Given the description of an element on the screen output the (x, y) to click on. 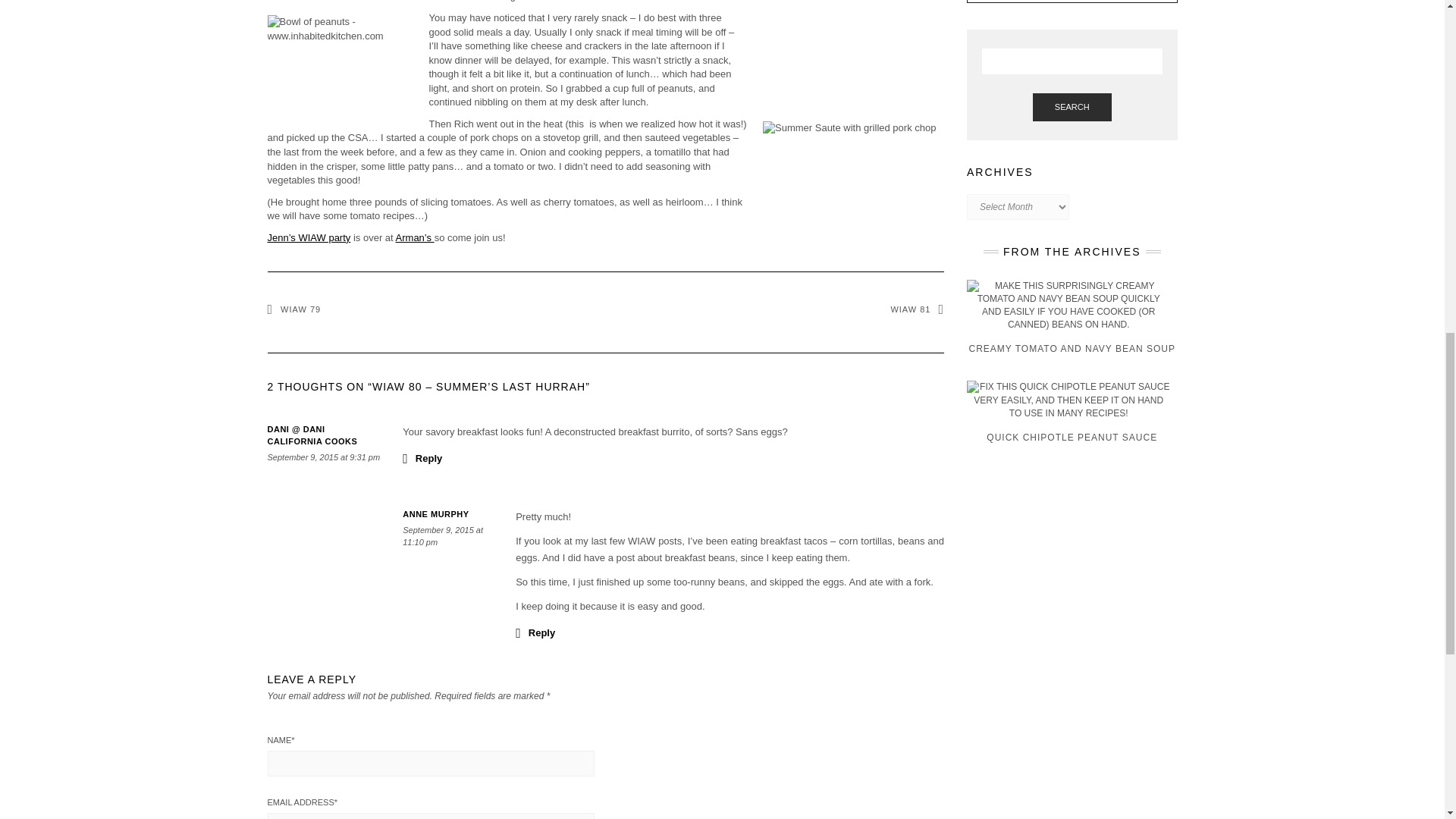
CREAMY TOMATO AND NAVY BEAN SOUP (1071, 326)
QUICK CHIPOTLE PEANUT SAUCE (1071, 418)
SEARCH (1072, 106)
WIAW 79 (293, 308)
September 9, 2015 at 9:31 pm (323, 456)
Reply (534, 632)
Reply (422, 457)
WIAW 81 (916, 308)
September 9, 2015 at 11:10 pm (443, 536)
